Given the description of an element on the screen output the (x, y) to click on. 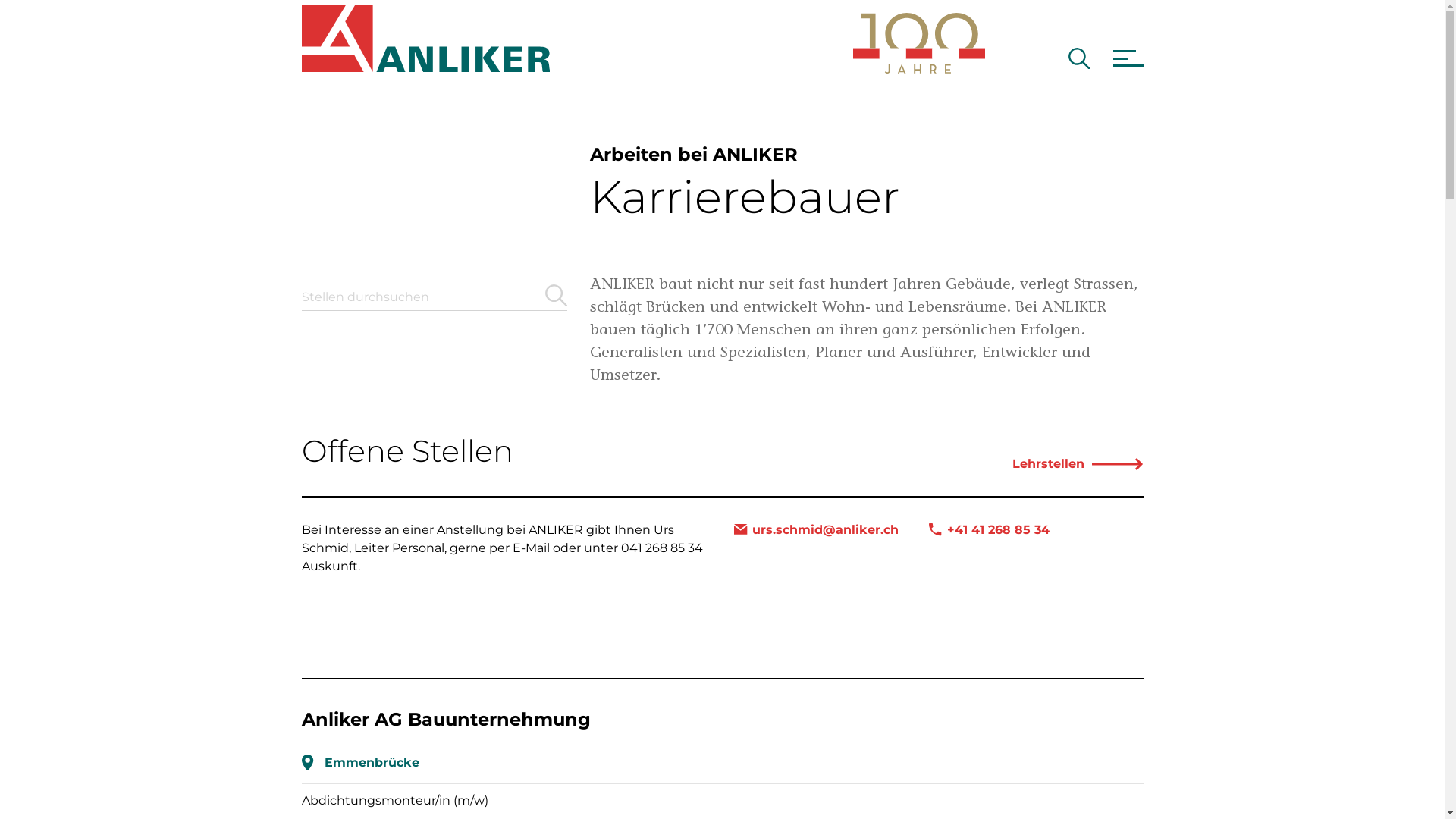
+41 41 268 85 34 Element type: text (988, 529)
urs.schmid@anliker.ch Element type: text (816, 529)
Lehrstellen Element type: text (1077, 464)
Abdichtungsmonteur/in (m/w) Element type: text (394, 800)
